Given the description of an element on the screen output the (x, y) to click on. 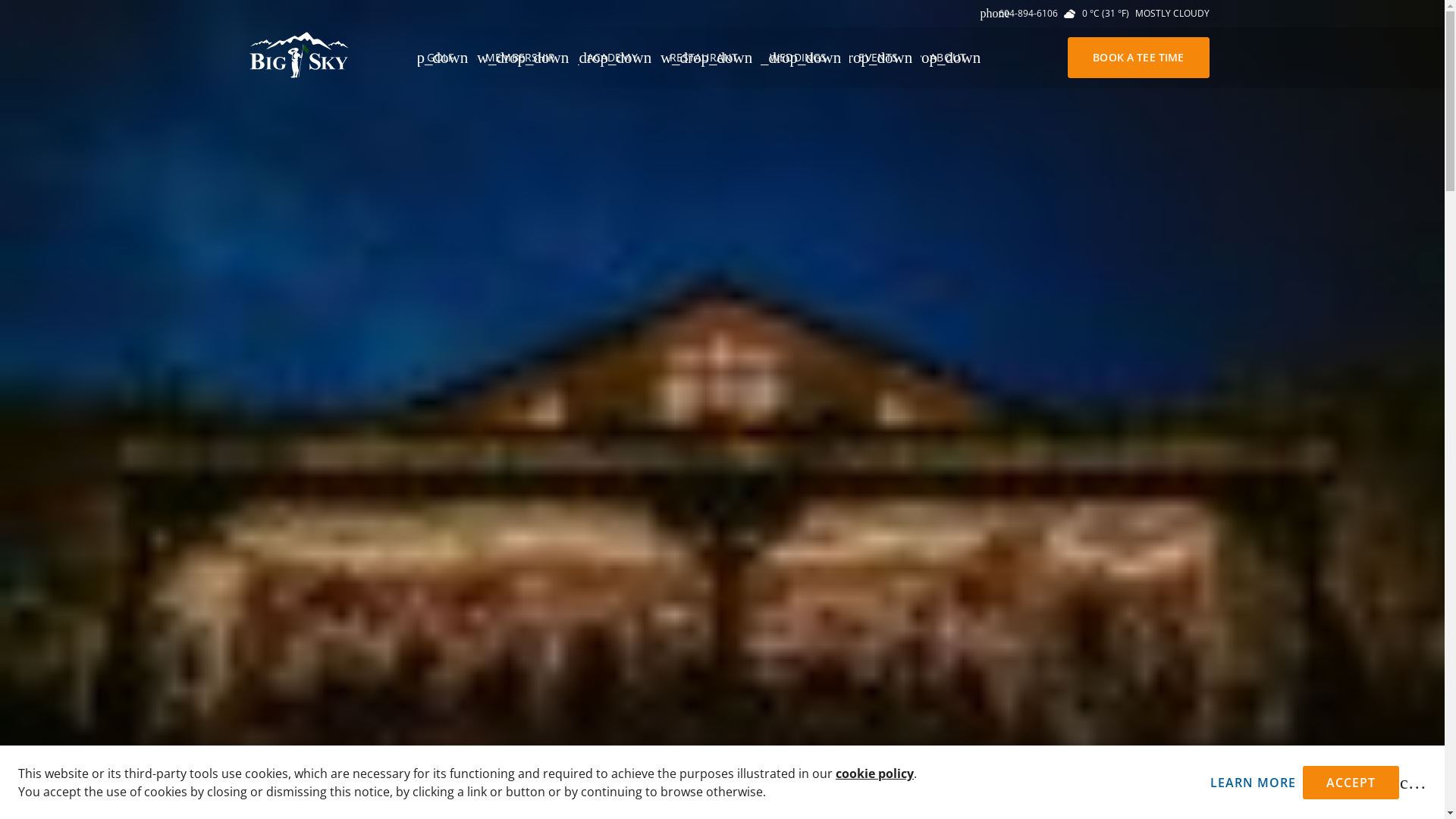
ACADEMY Element type: text (618, 57)
EVENTS Element type: text (884, 57)
MEMBERSHIP Element type: text (526, 57)
RESTAURANT Element type: text (710, 57)
LEARN MORE Element type: text (1252, 782)
604-894-6106 Element type: text (1018, 13)
GOLF Element type: text (446, 57)
Big Sky Golf Element type: text (326, 54)
cookie policy Element type: text (874, 773)
ACCEPT Element type: text (1350, 782)
ABOUT Element type: text (954, 57)
WEDDINGS Element type: text (804, 57)
BOOK A TEE TIME Element type: text (1137, 57)
close Element type: text (1412, 782)
